Given the description of an element on the screen output the (x, y) to click on. 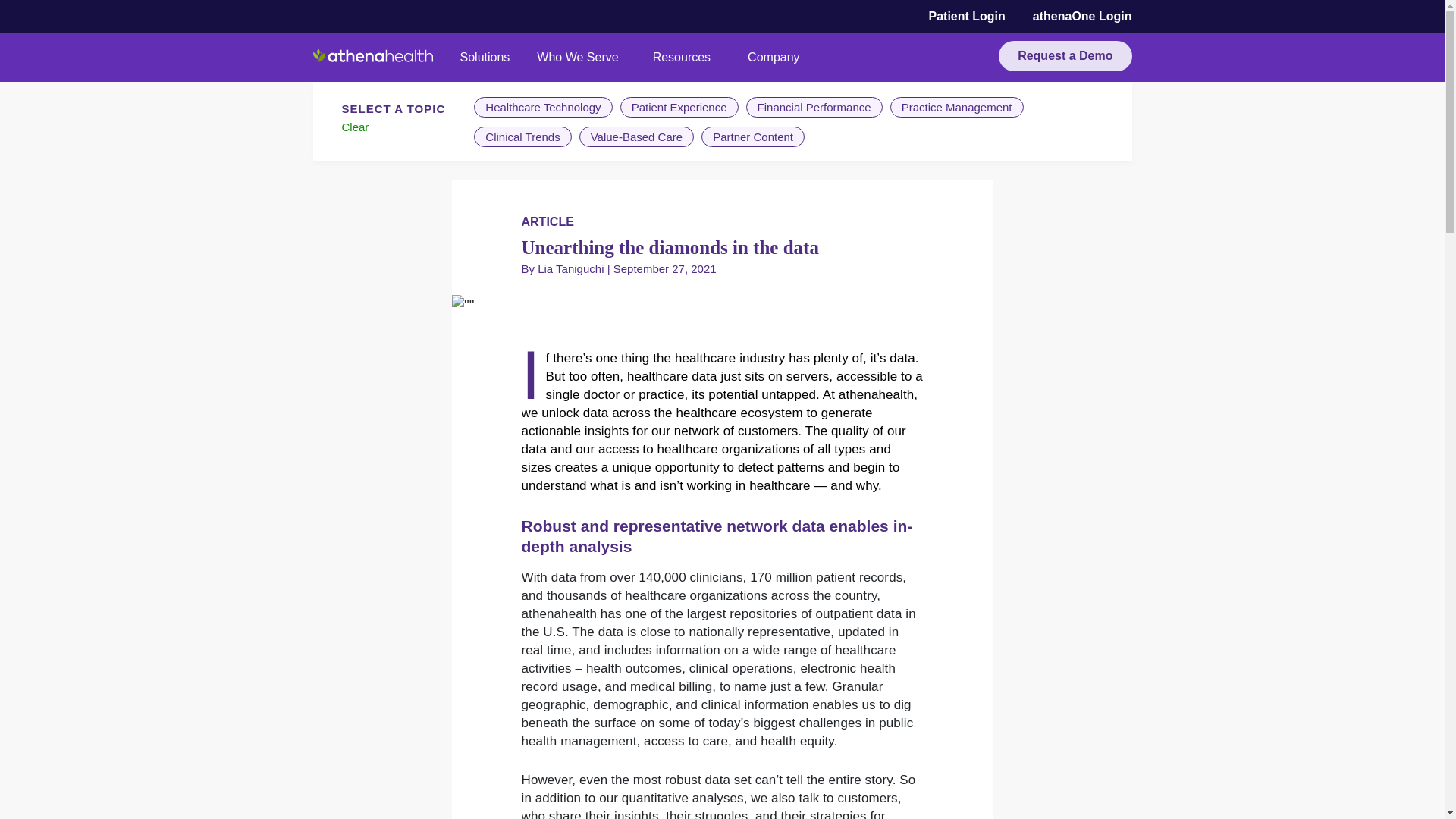
Request a Demo (1064, 55)
Patient Login (966, 16)
athenaOne Login (1082, 16)
